Given the description of an element on the screen output the (x, y) to click on. 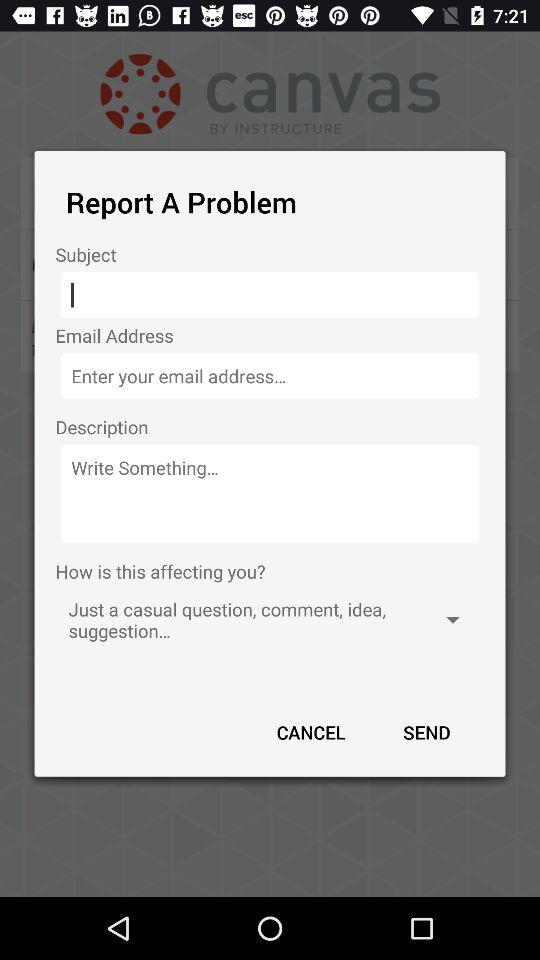
enter text input (269, 295)
